Given the description of an element on the screen output the (x, y) to click on. 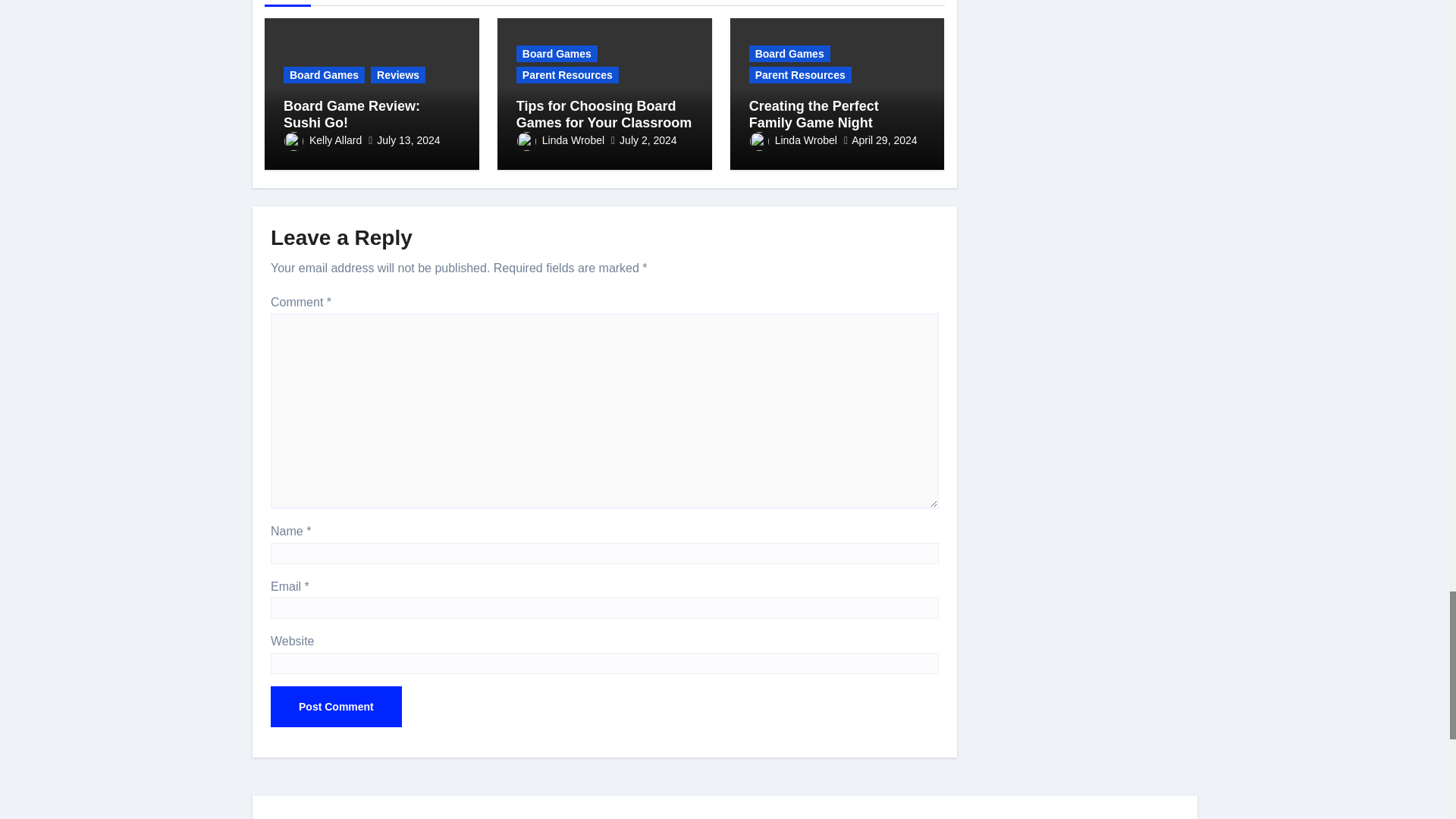
Permalink to: Board Game Review: Sushi Go! (351, 114)
Permalink to: Creating the Perfect Family Game Night (814, 114)
Post Comment (335, 706)
